Given the description of an element on the screen output the (x, y) to click on. 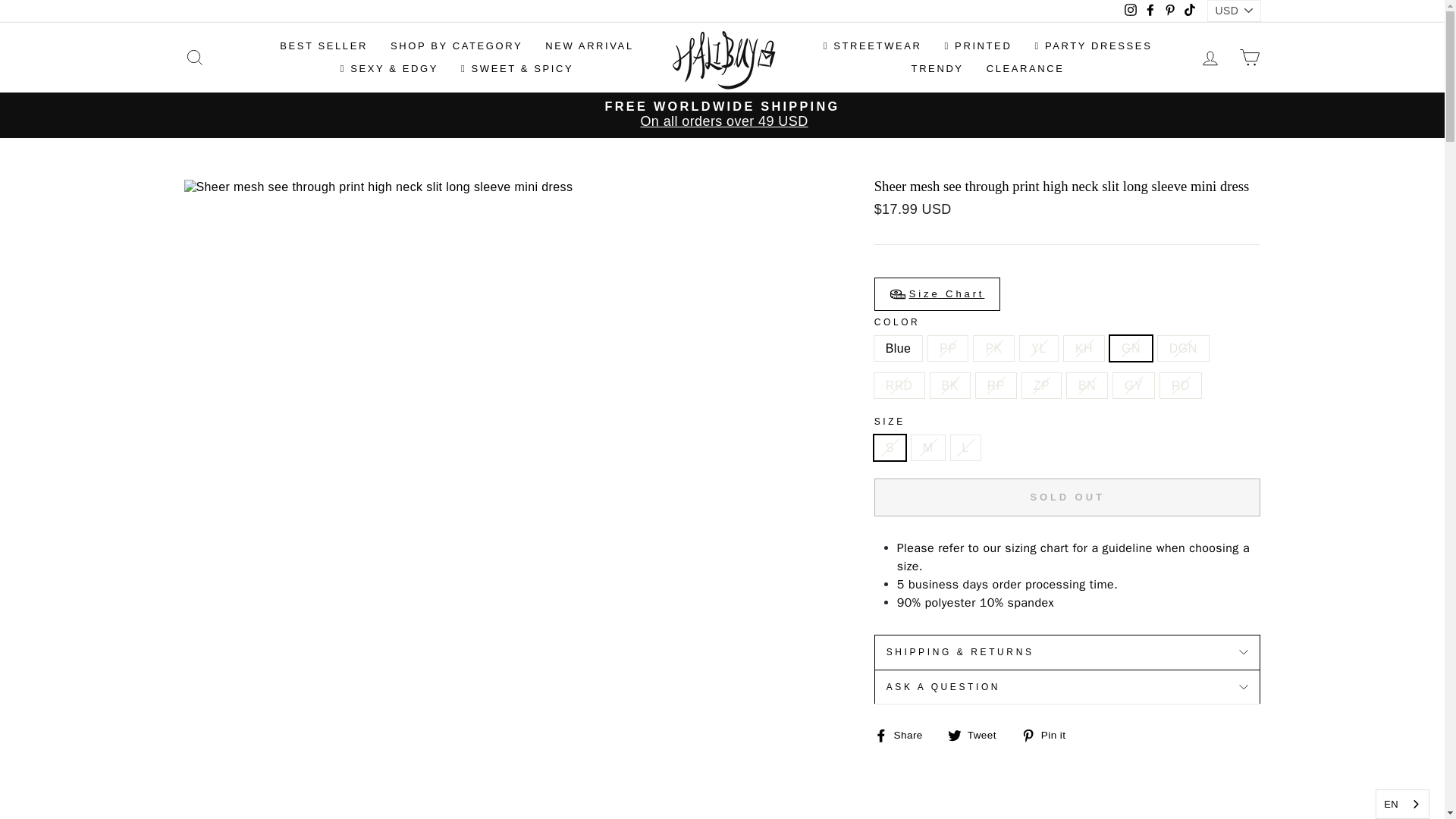
Pin on Pinterest (1049, 734)
Halibuy on Pinterest (1169, 10)
Tweet on Twitter (977, 734)
Halibuy on Instagram (1130, 10)
Halibuy on TikTok (1189, 10)
